Given the description of an element on the screen output the (x, y) to click on. 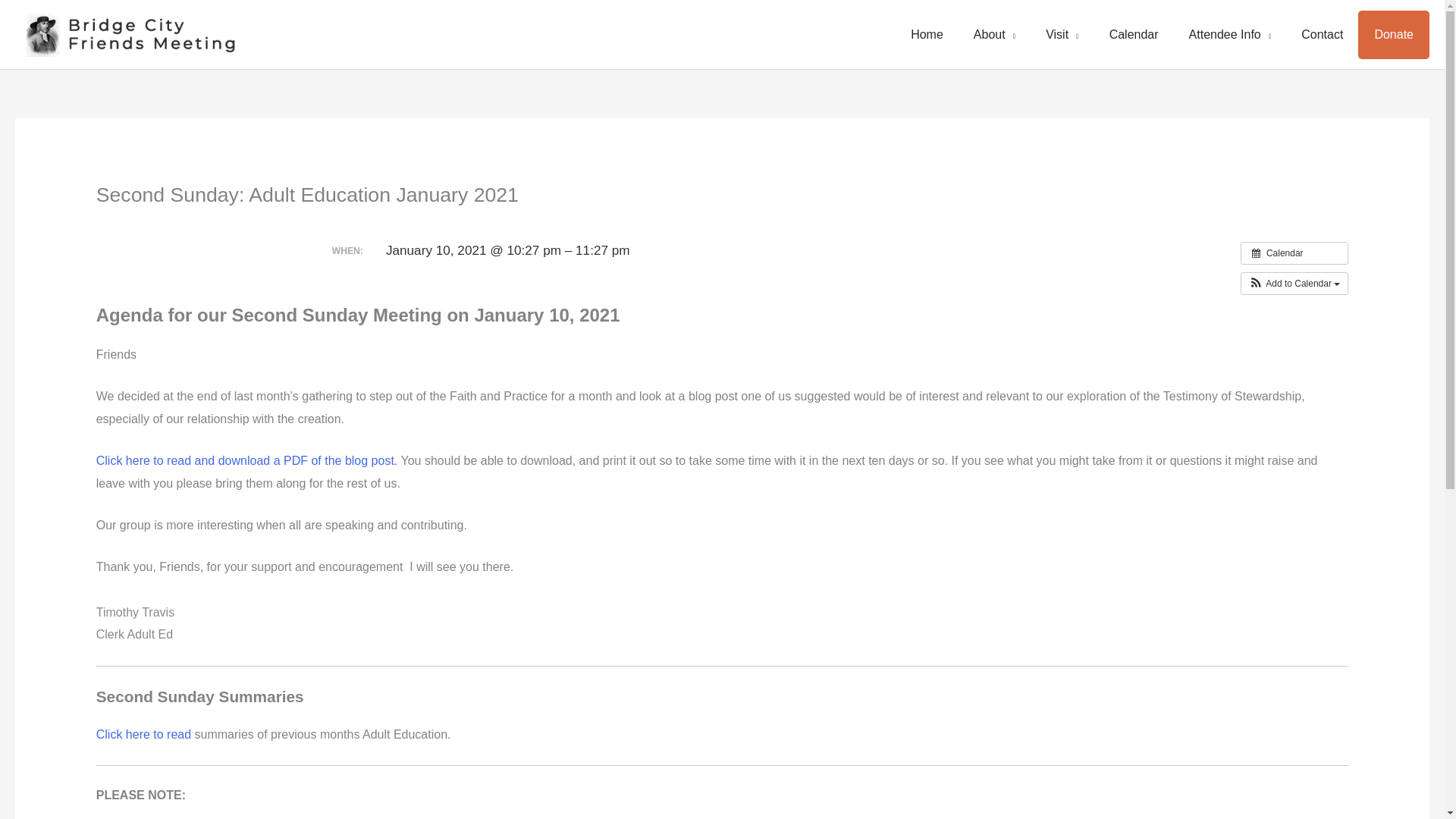
Calendar (1133, 34)
Contact (1321, 34)
Home (926, 34)
About (994, 34)
Visit (1061, 34)
Donate (1393, 34)
Attendee Info (1230, 34)
View all events (1294, 252)
